Given the description of an element on the screen output the (x, y) to click on. 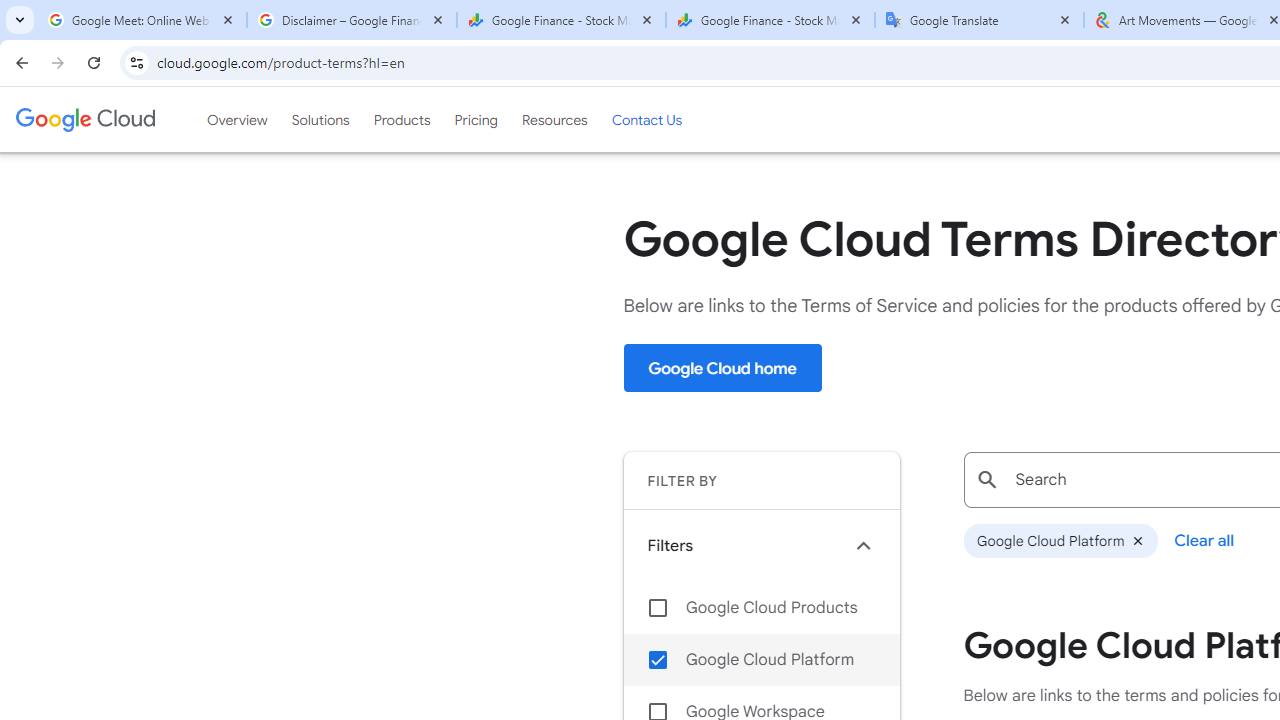
Google Cloud Products (761, 607)
Google Cloud home (722, 367)
Filters keyboard_arrow_up (761, 545)
Google Cloud Platform (1060, 541)
Products (401, 119)
